Given the description of an element on the screen output the (x, y) to click on. 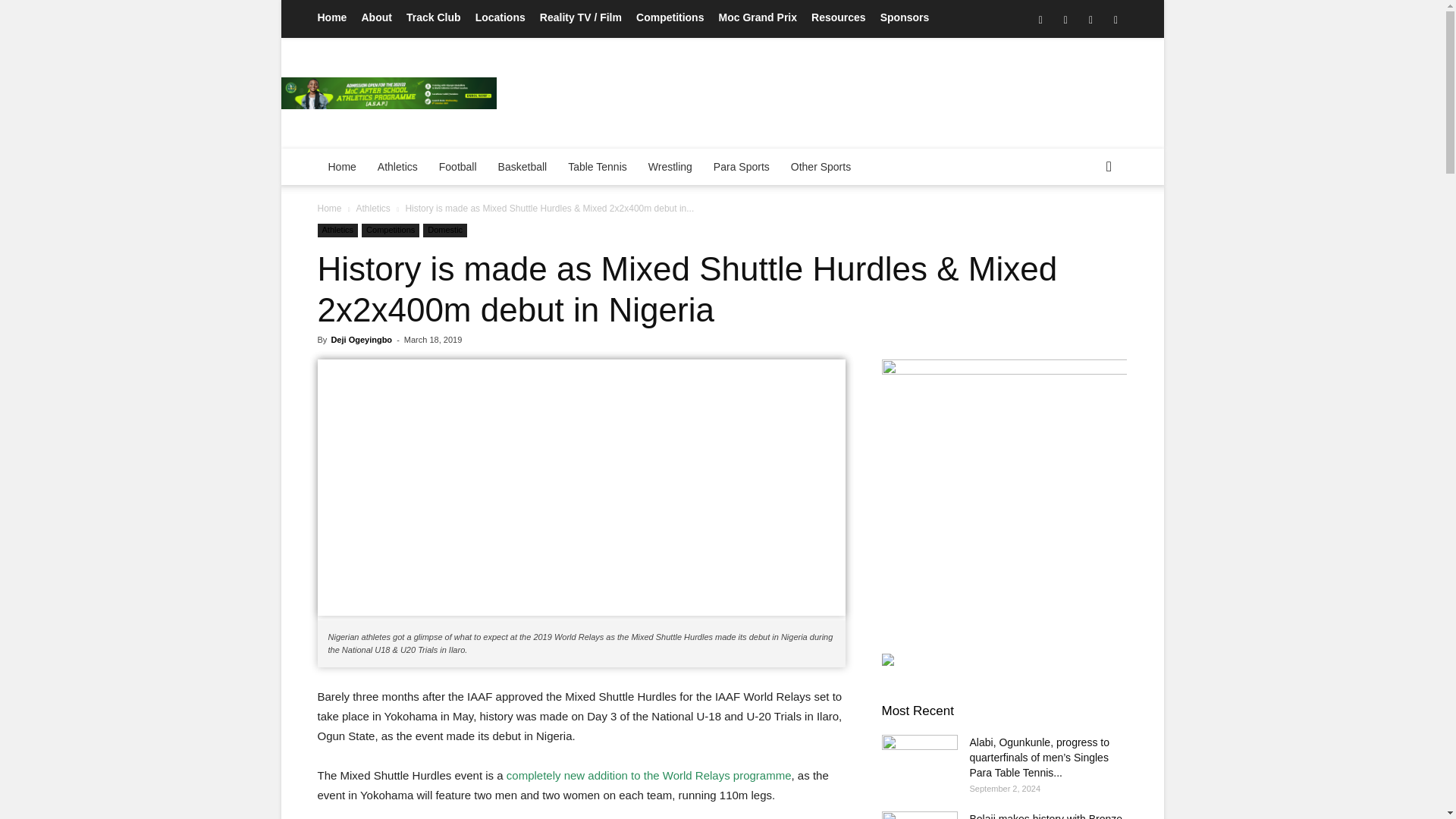
Track Club (433, 17)
Home (331, 17)
About (376, 17)
Locations (500, 17)
